Given the description of an element on the screen output the (x, y) to click on. 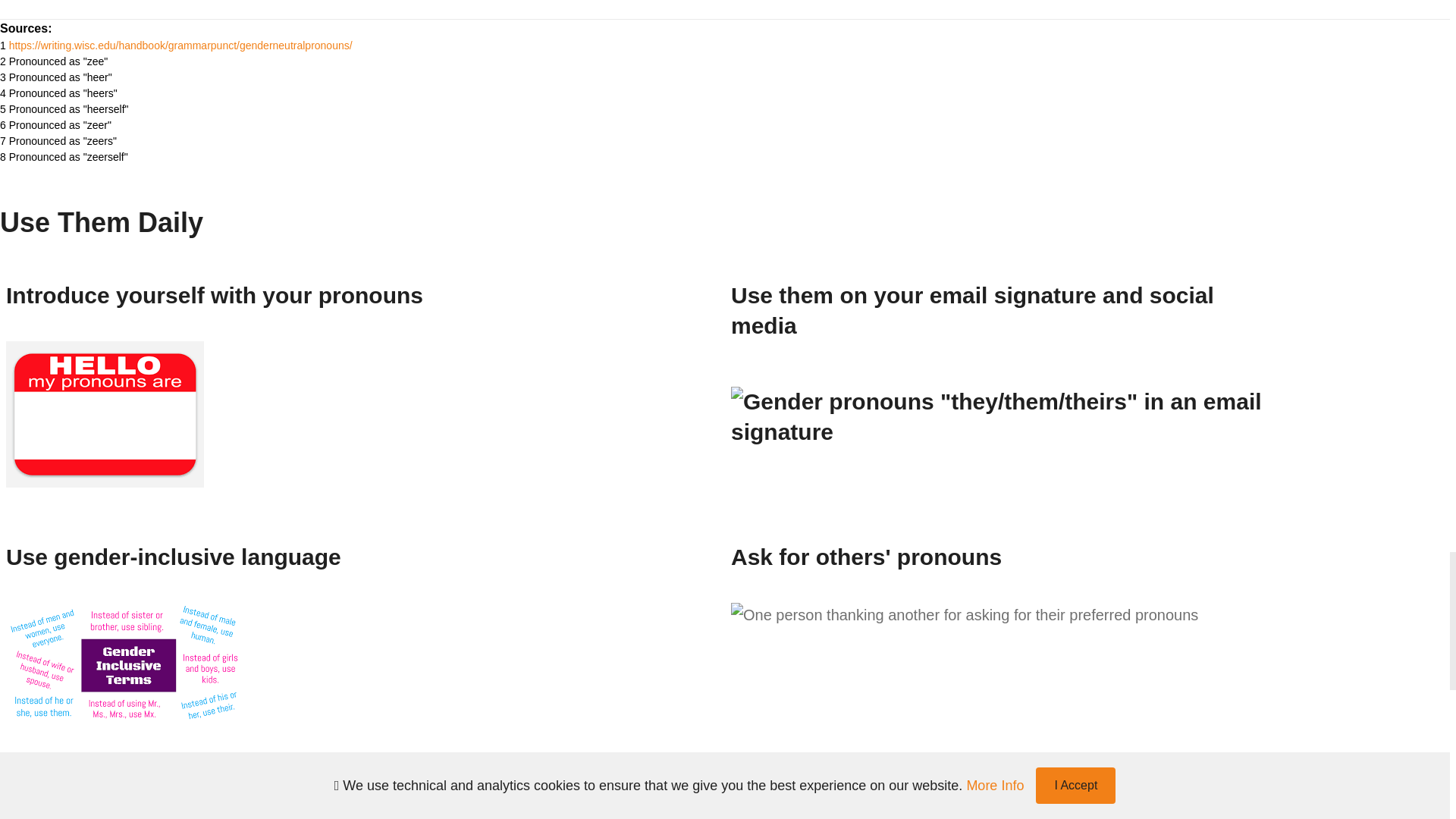
on (241, 476)
on (241, 536)
on (241, 506)
